Given the description of an element on the screen output the (x, y) to click on. 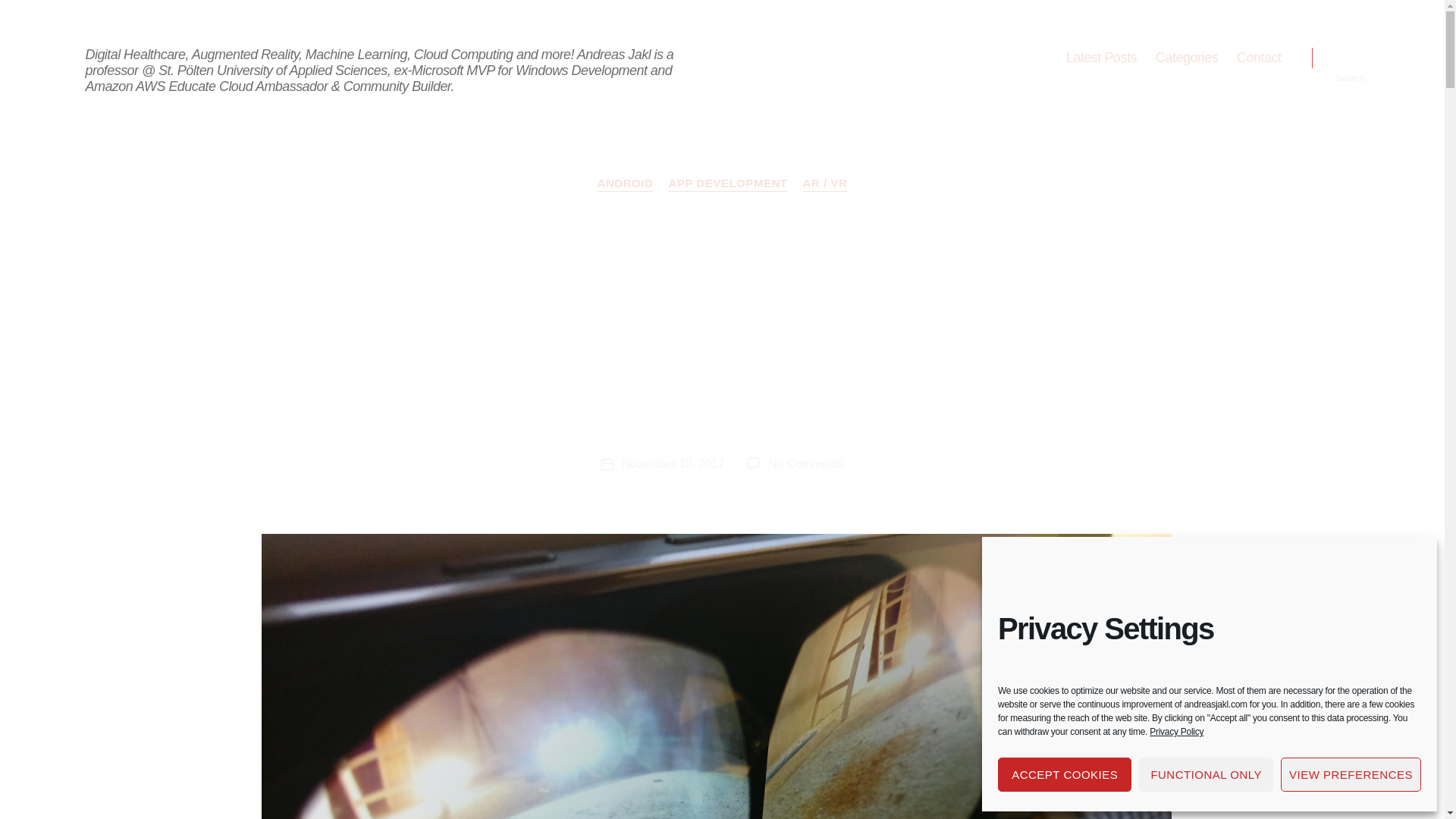
Latest Posts (1101, 57)
November 10, 2017 (672, 463)
andreasjakl.com (149, 30)
APP DEVELOPMENT (727, 183)
VIEW PREFERENCES (1351, 774)
ANDROID (624, 183)
Contact (1258, 57)
FUNCTIONAL ONLY (1205, 774)
Privacy Policy (1177, 731)
Categories (1186, 57)
